Given the description of an element on the screen output the (x, y) to click on. 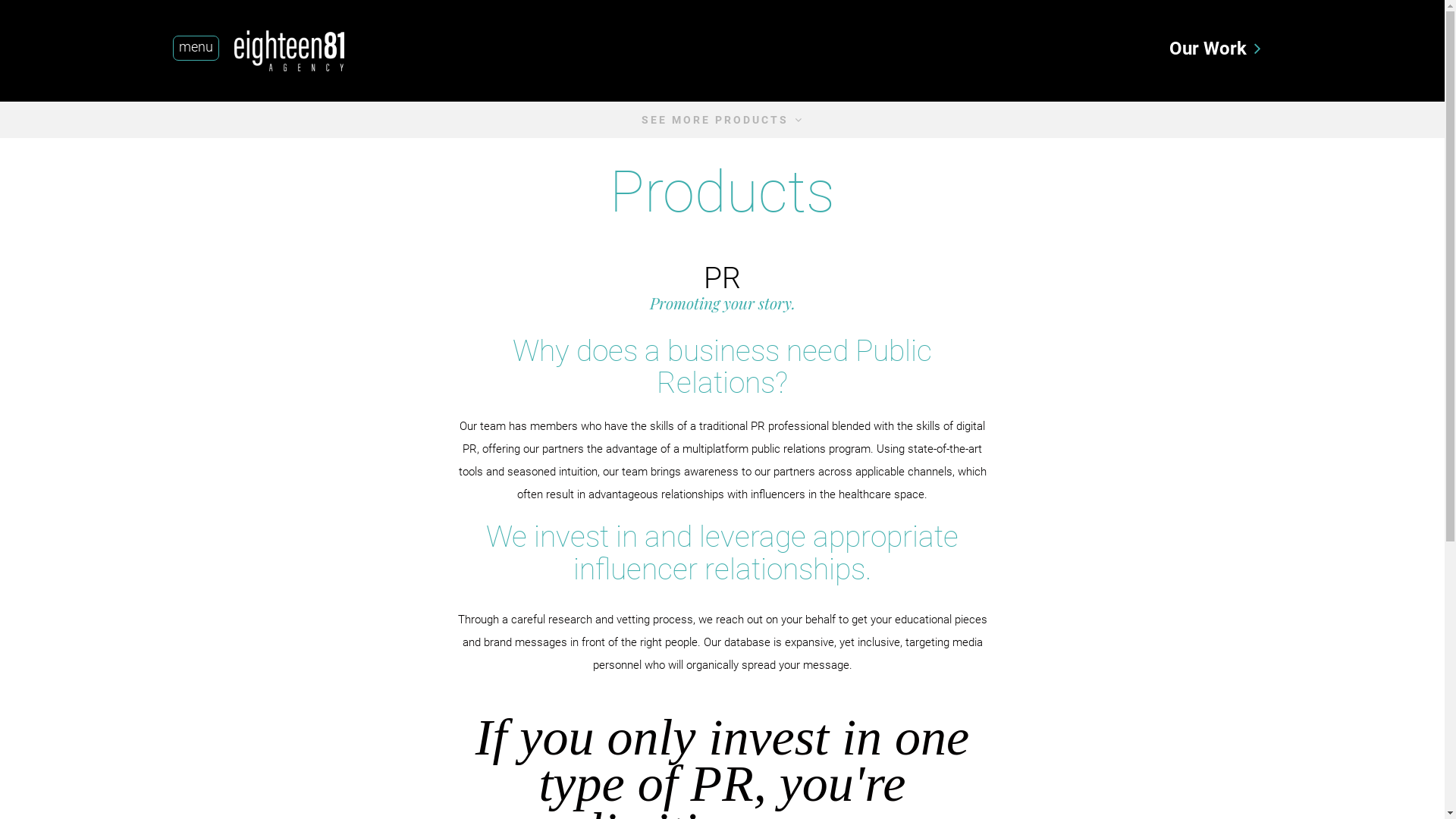
Our Work Element type: text (1207, 48)
Skip to main content Element type: text (0, 0)
Toggle navigation Element type: text (197, 49)
Home Element type: hover (293, 50)
